Given the description of an element on the screen output the (x, y) to click on. 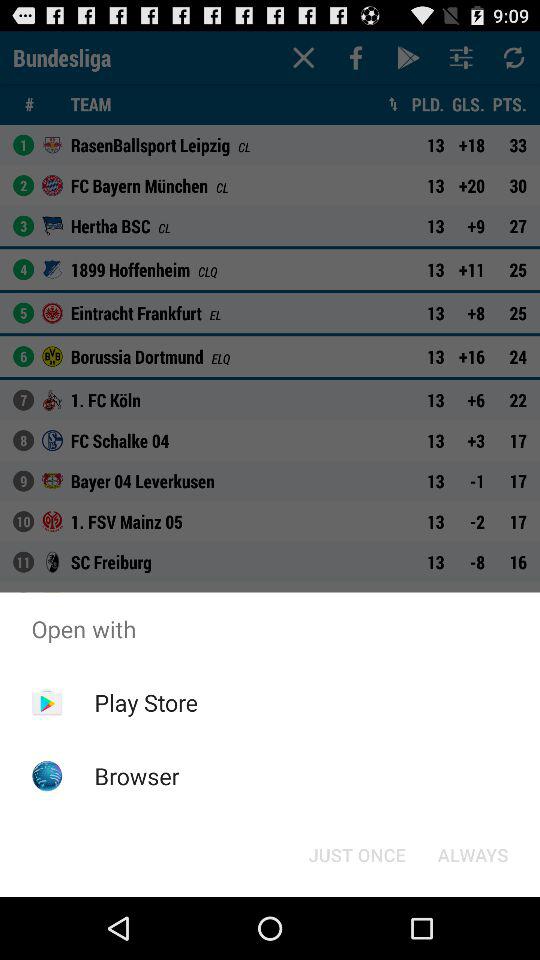
tap always at the bottom right corner (472, 854)
